Given the description of an element on the screen output the (x, y) to click on. 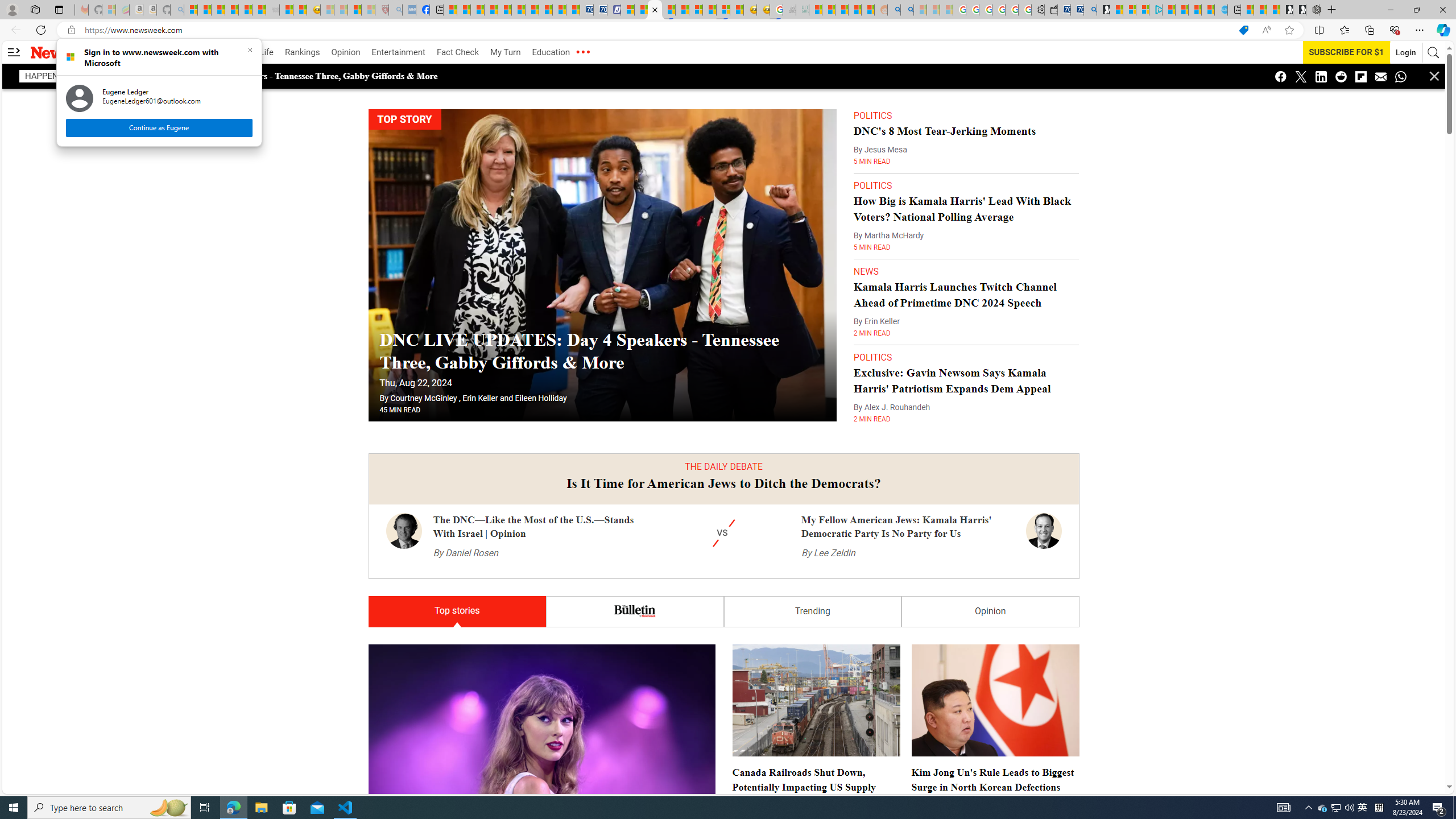
By Martha McHardy (888, 235)
Opinion (989, 611)
Combat Siege - Sleeping (271, 9)
By Erin Keller (876, 321)
Fact Check (457, 52)
Rankings (302, 52)
